Given the description of an element on the screen output the (x, y) to click on. 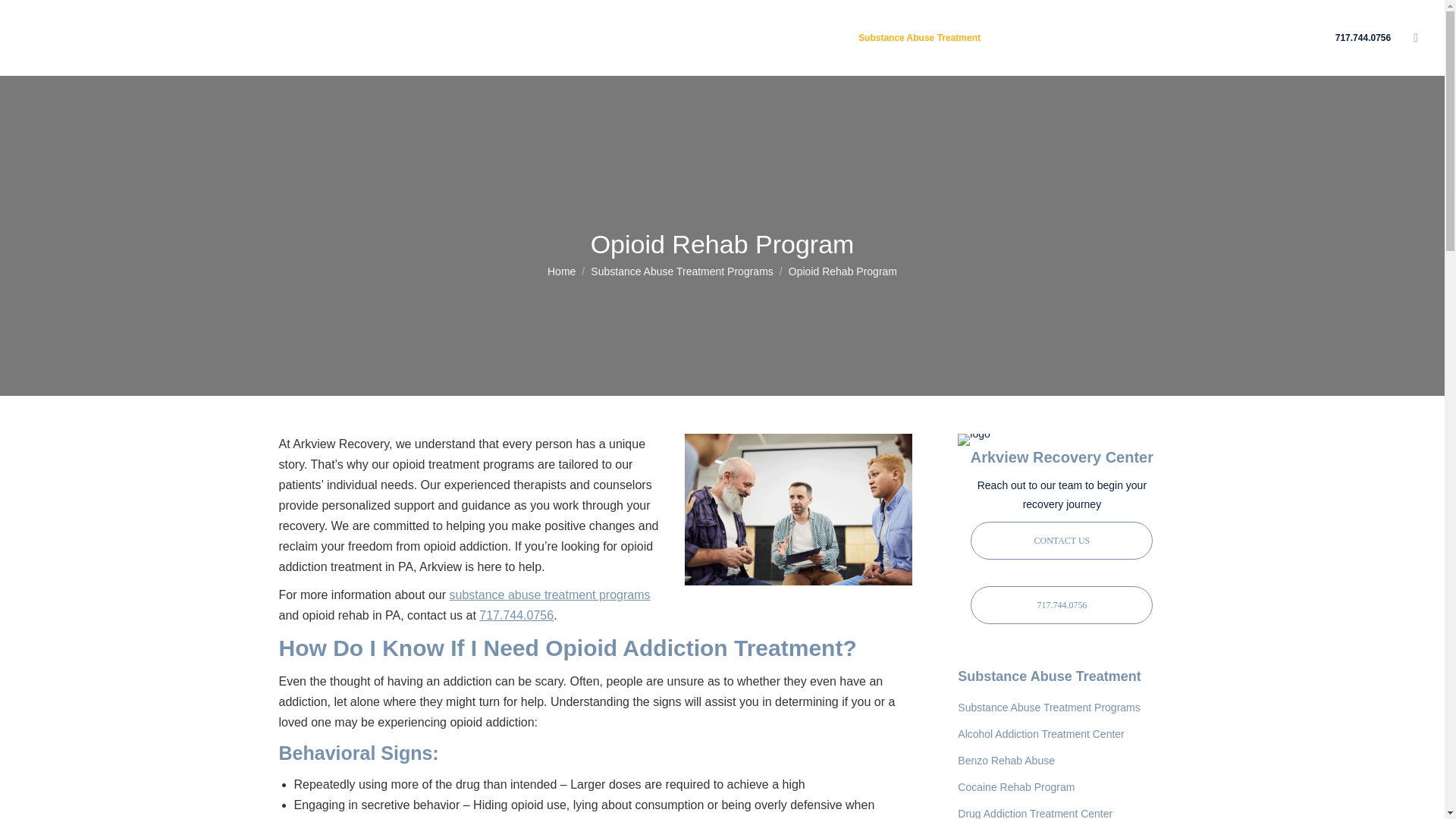
Facility Photos (289, 37)
Substance Abuse Treatment (919, 37)
Therapy Programs (751, 37)
Contact Arkview Recovery Center (1062, 540)
About (178, 37)
Addiction Treatment (432, 37)
Mental Health Treatment (593, 37)
